Given the description of an element on the screen output the (x, y) to click on. 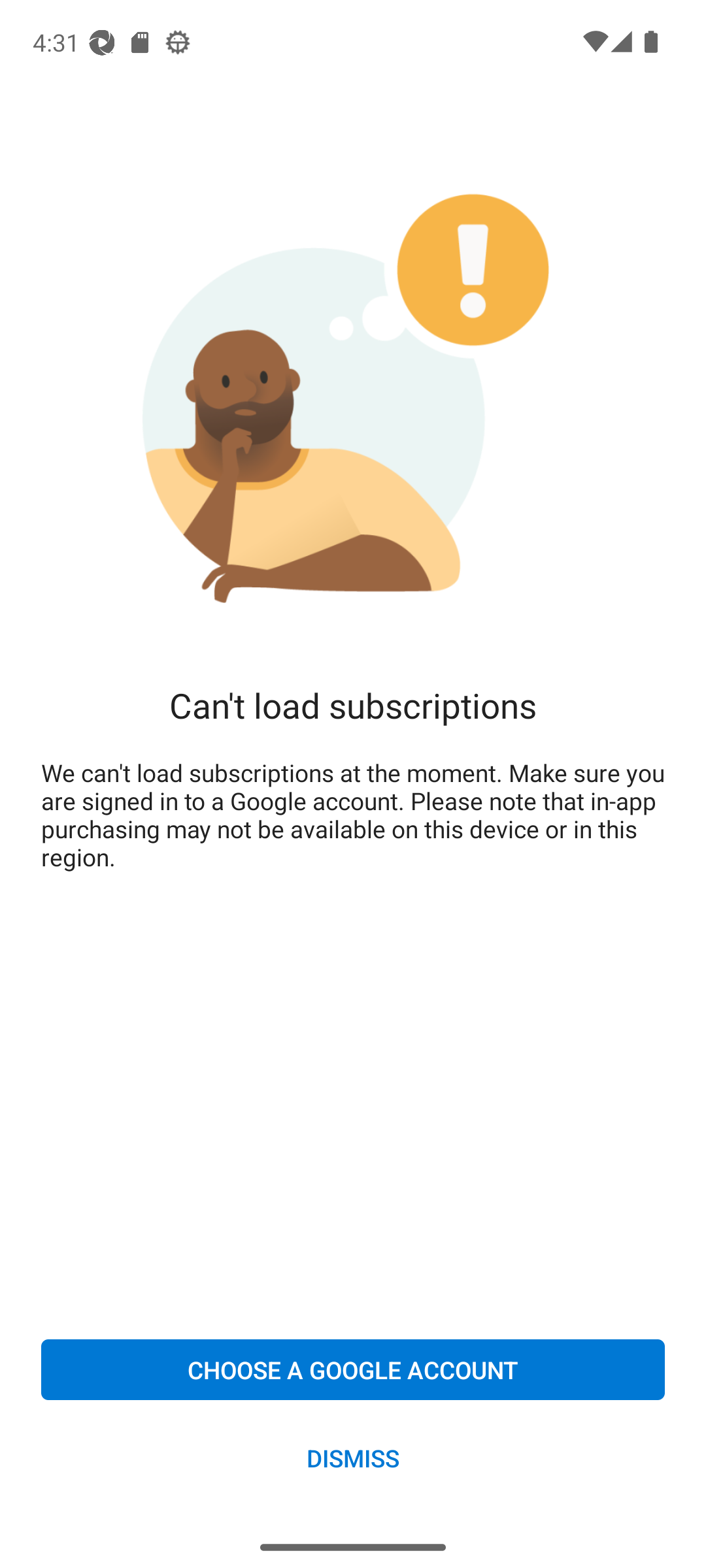
CHOOSE A GOOGLE ACCOUNT (352, 1369)
DISMISS (352, 1457)
